Given the description of an element on the screen output the (x, y) to click on. 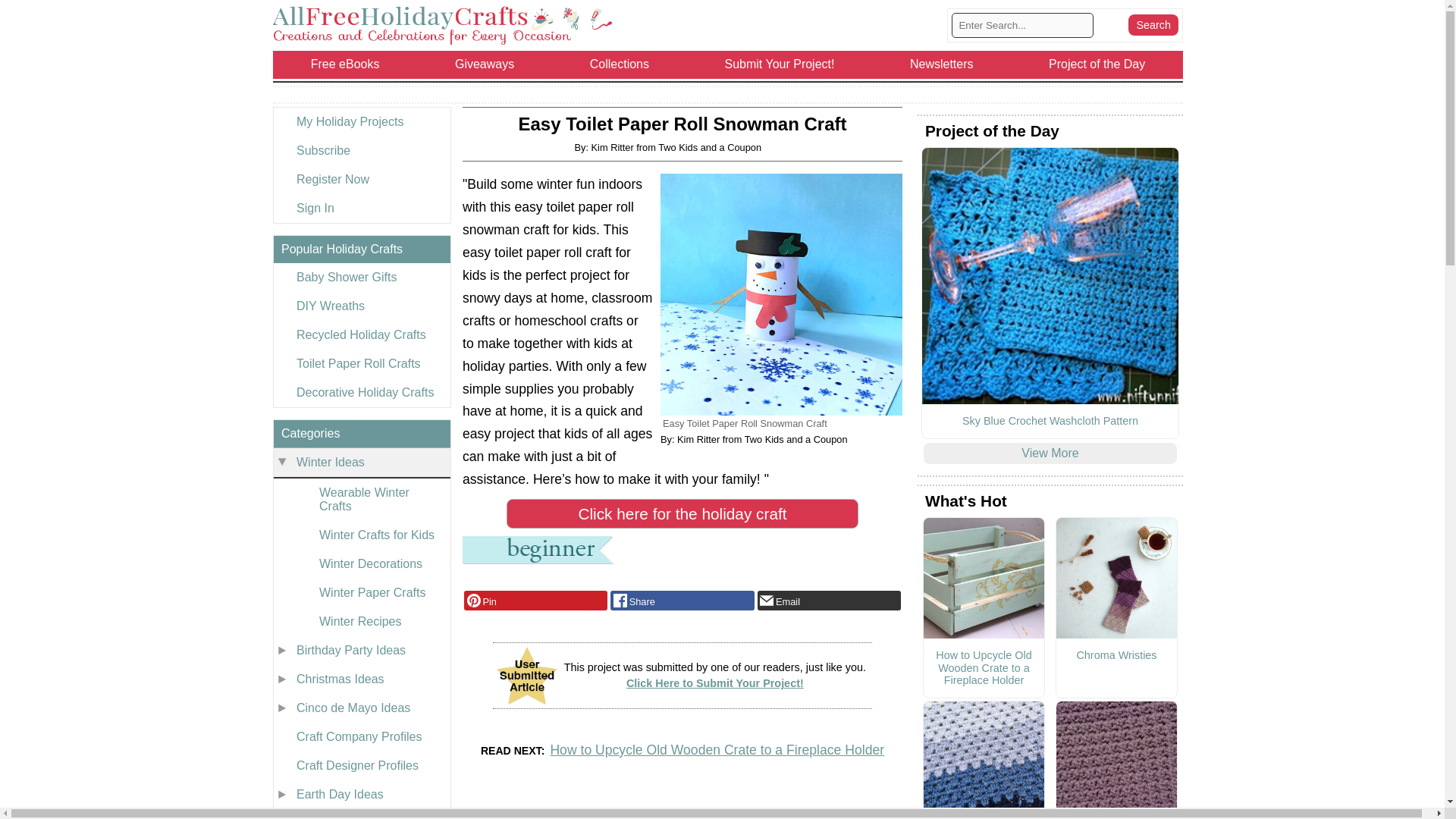
Register Now (361, 179)
My Holiday Projects (361, 121)
Search (1152, 25)
Subscribe (361, 150)
Sign In (361, 208)
Email (829, 600)
Easy Toilet Paper Roll Snowman Craft (781, 294)
Facebook (682, 600)
